Given the description of an element on the screen output the (x, y) to click on. 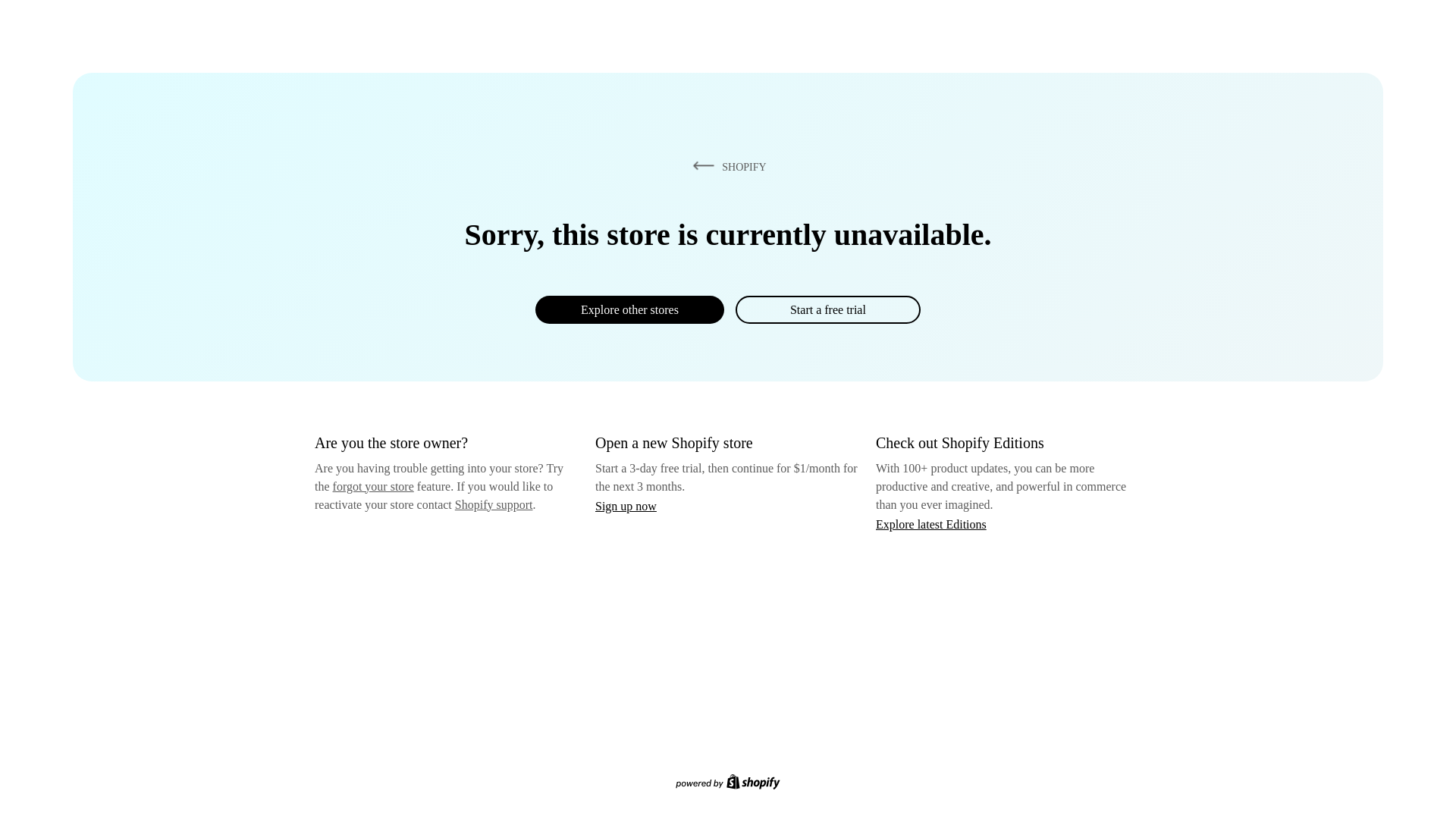
Explore other stores (629, 309)
Sign up now (625, 505)
Start a free trial (827, 309)
Shopify support (493, 504)
forgot your store (373, 486)
Explore latest Editions (931, 523)
SHOPIFY (726, 166)
